Given the description of an element on the screen output the (x, y) to click on. 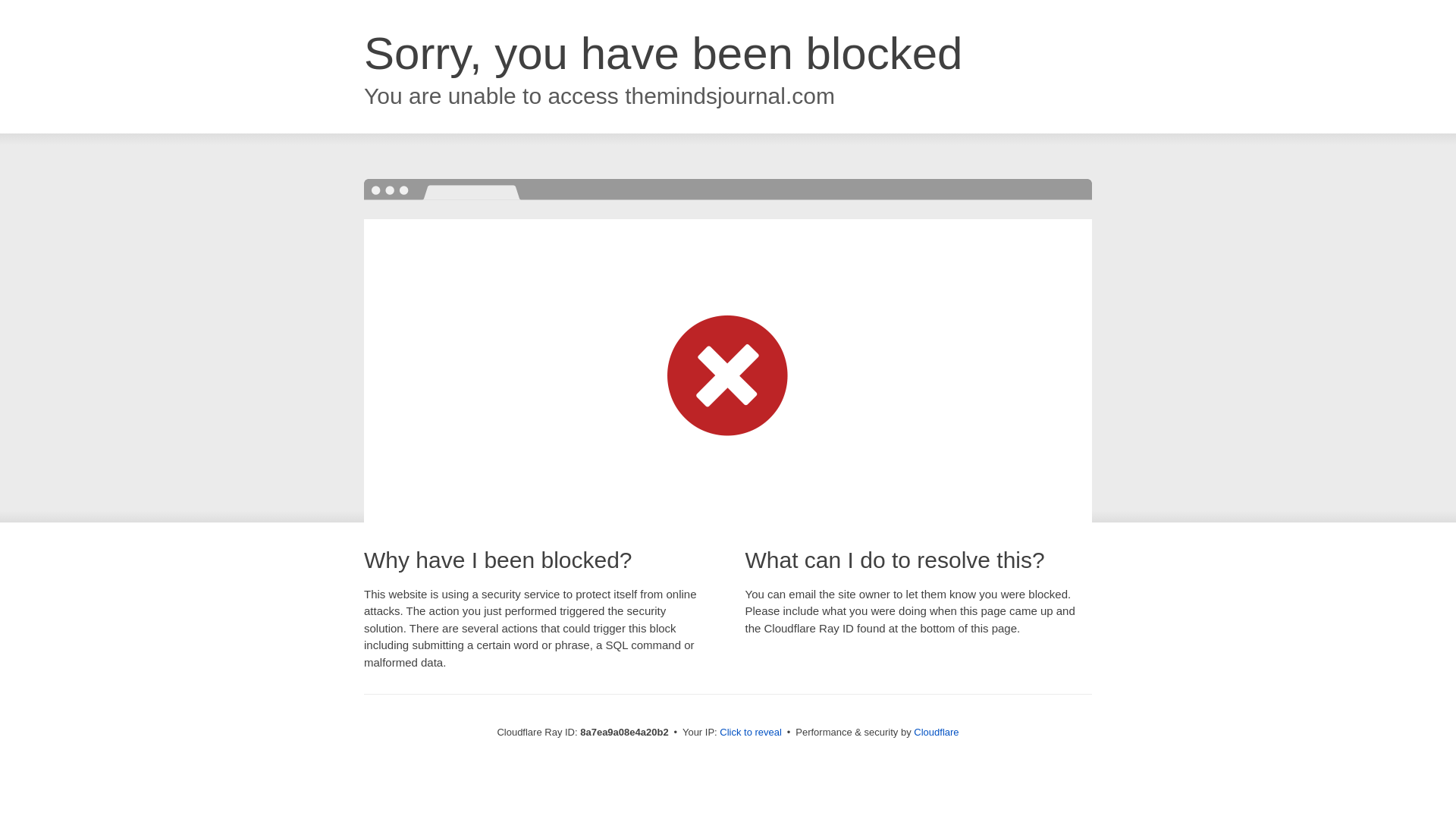
Cloudflare (936, 731)
Click to reveal (750, 732)
